Given the description of an element on the screen output the (x, y) to click on. 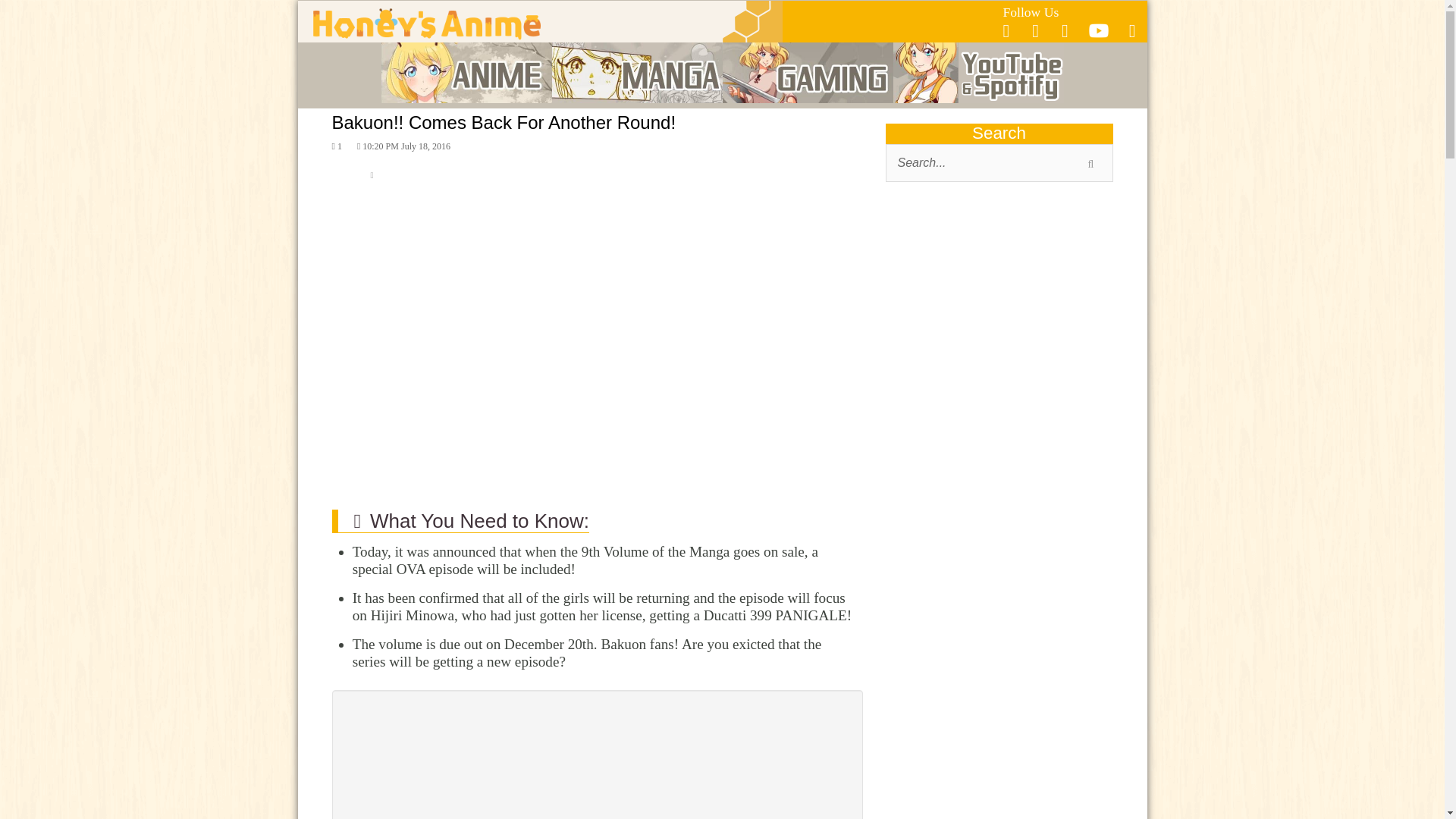
banner-honeyfeed-malcontest (999, 765)
Search... (999, 162)
Search... (999, 162)
Our Youtube (1098, 35)
